Given the description of an element on the screen output the (x, y) to click on. 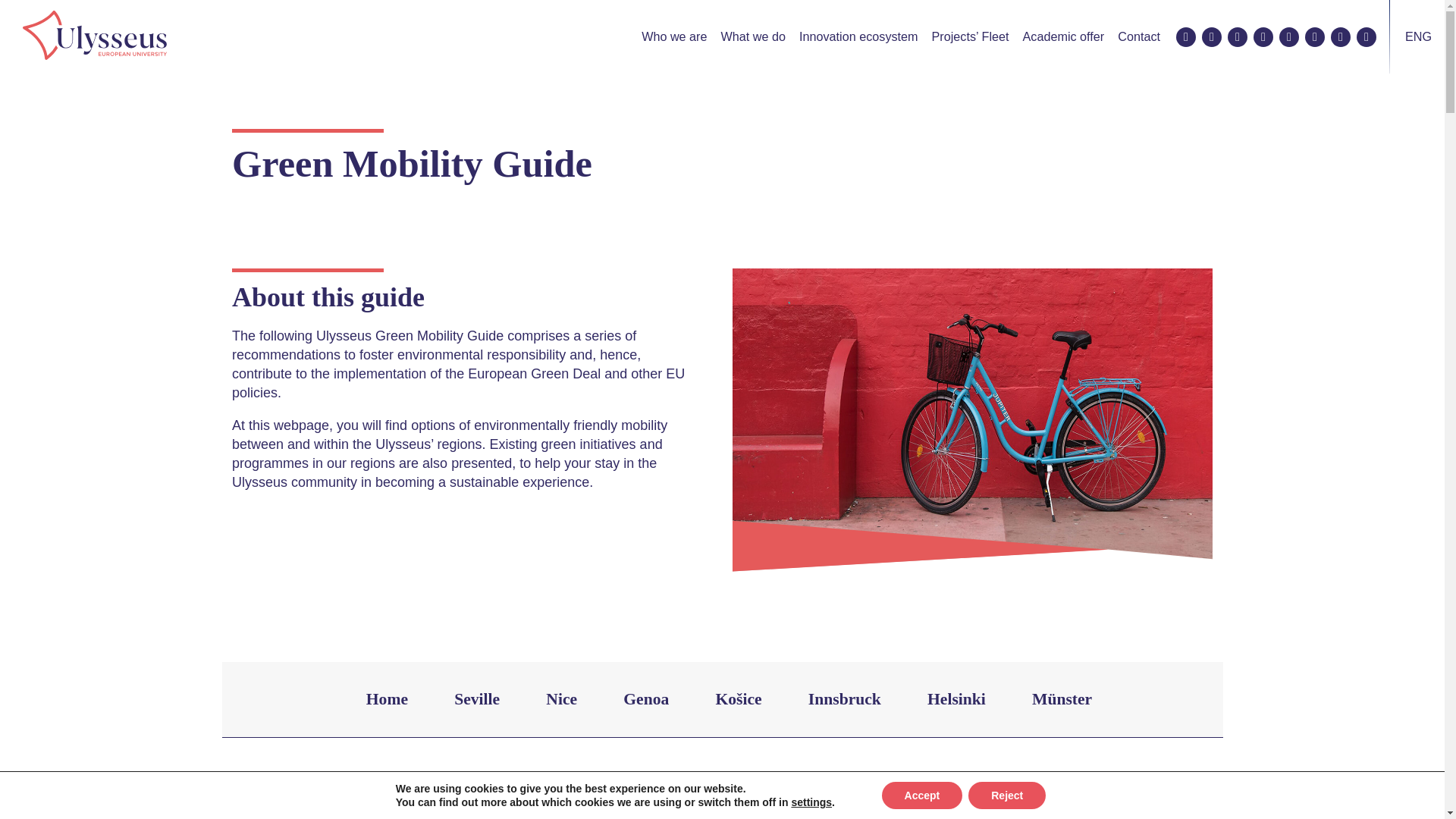
What we do (753, 36)
Instagram (1237, 36)
Seville (477, 699)
Helsinki (956, 699)
X (1211, 36)
Home Ulysseus (95, 36)
Innsbruck (844, 699)
Podcast (1314, 36)
Match4Cooperation (1365, 36)
Genoa (646, 699)
